Given the description of an element on the screen output the (x, y) to click on. 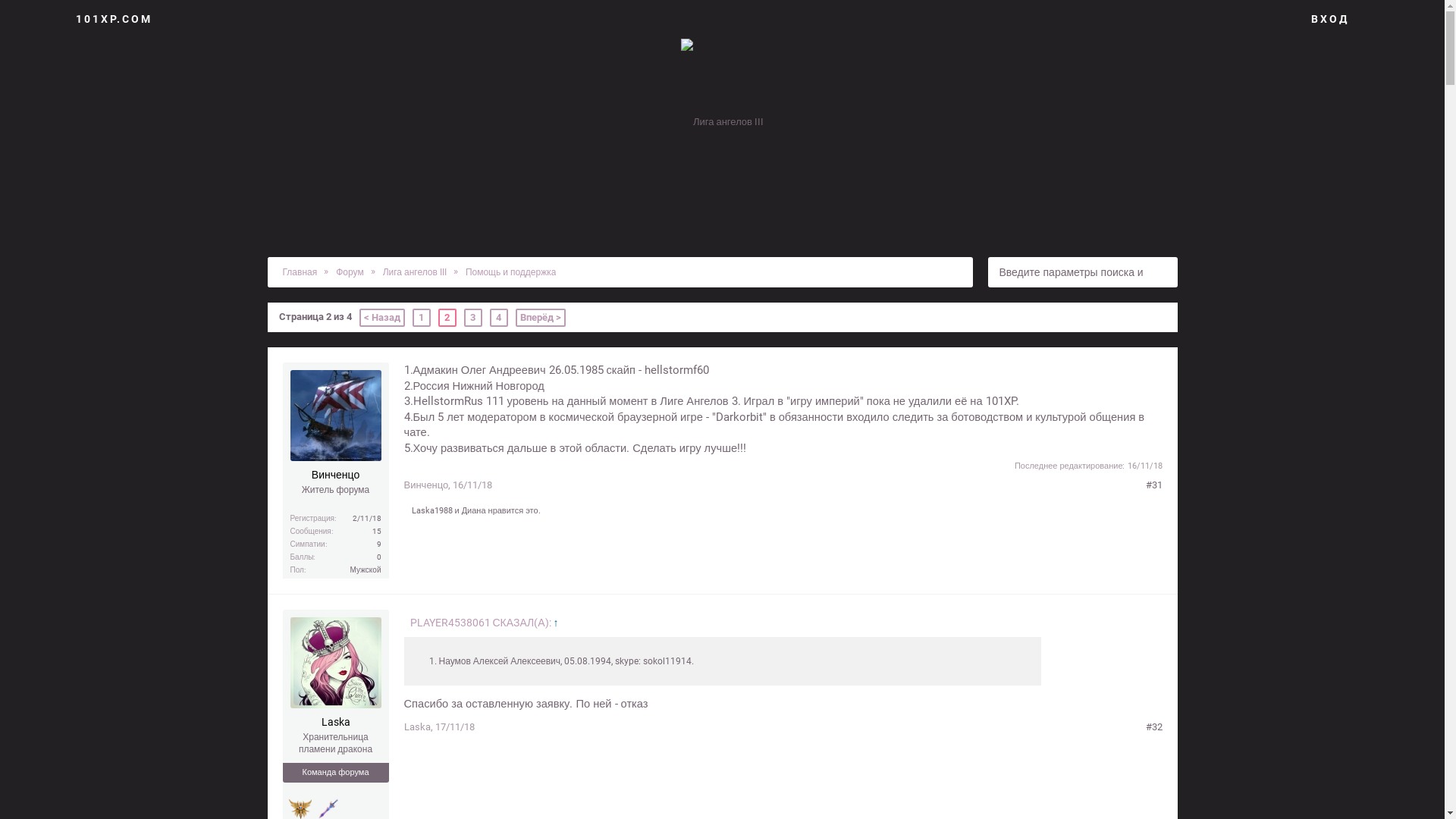
#31 Element type: text (1153, 485)
1 Element type: text (421, 317)
2 Element type: text (447, 317)
4 Element type: text (498, 317)
17/11/18 Element type: text (454, 726)
0 Element type: text (378, 556)
Laska Element type: text (334, 723)
3 Element type: text (473, 317)
16/11/18 Element type: text (472, 484)
101XP.COM Element type: text (113, 18)
15 Element type: text (375, 531)
#32 Element type: text (1153, 727)
Laska1988 Element type: text (431, 510)
Laska Element type: text (416, 726)
